Given the description of an element on the screen output the (x, y) to click on. 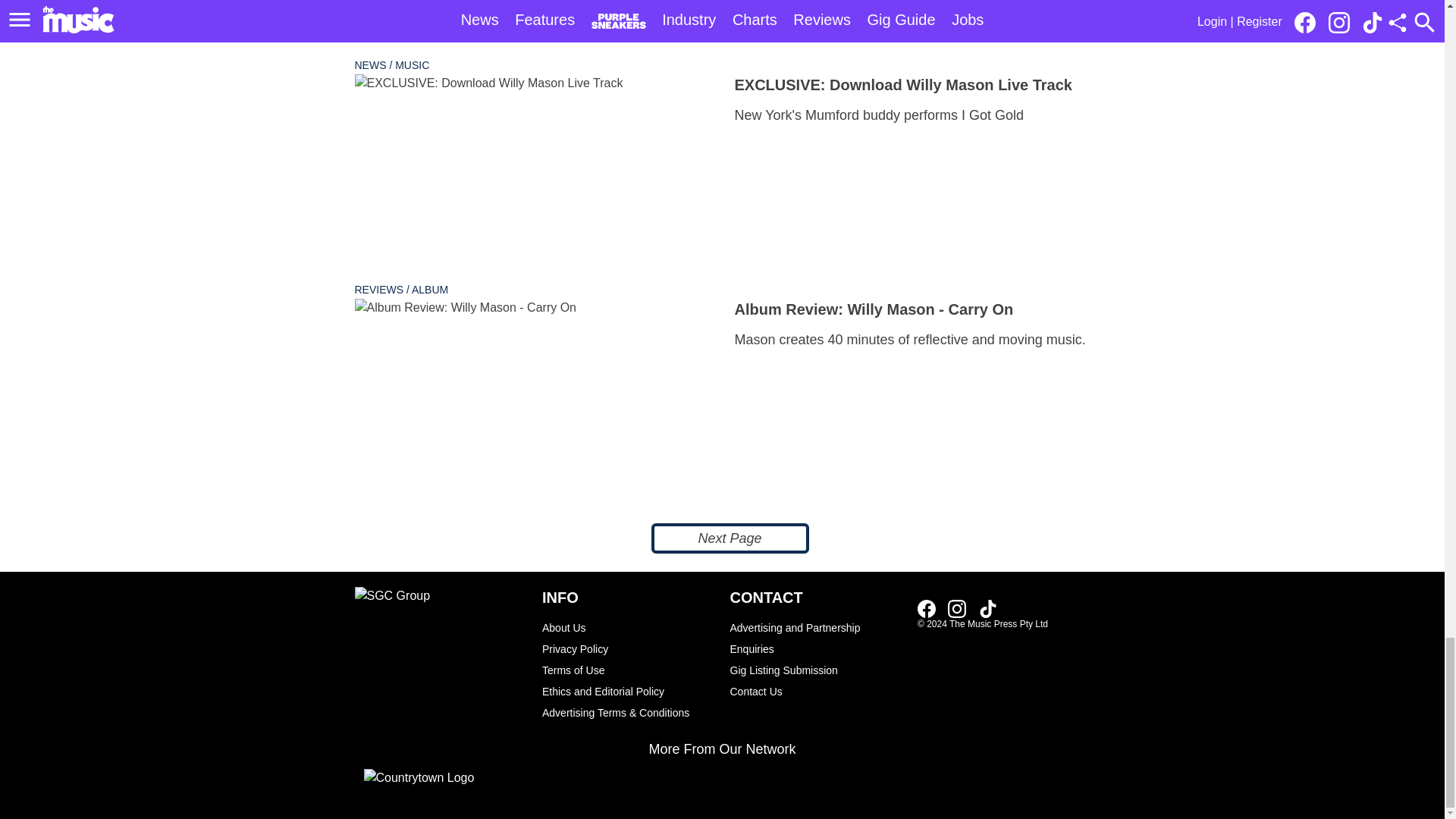
Link to our TikTok (987, 608)
Link to our Instagram (956, 608)
Link to our Facebook (926, 608)
About Us (627, 627)
Next Page (729, 538)
